Given the description of an element on the screen output the (x, y) to click on. 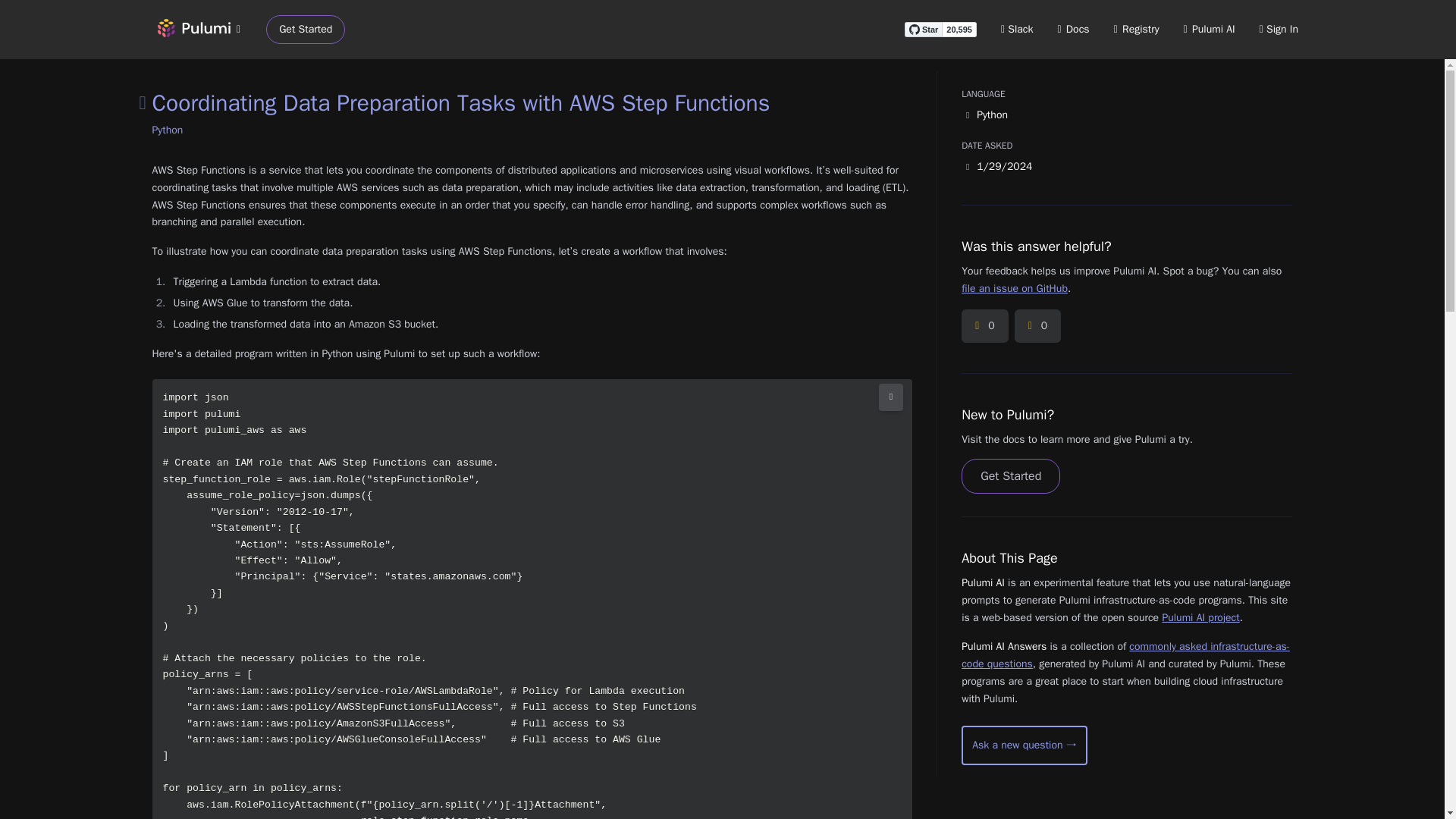
Slack (1017, 29)
0 (1037, 326)
Pulumi AI (1208, 29)
Start a new conversation with Pulumi AI (1023, 744)
Get Started (305, 29)
Downvote this answer (1037, 326)
20,595 (959, 29)
Registry (1135, 29)
Docs (1073, 29)
0 (984, 326)
file an issue on GitHub (1013, 287)
Upvote this answer (984, 326)
Sign In (1278, 29)
 Star (923, 29)
Get Started (1009, 475)
